Given the description of an element on the screen output the (x, y) to click on. 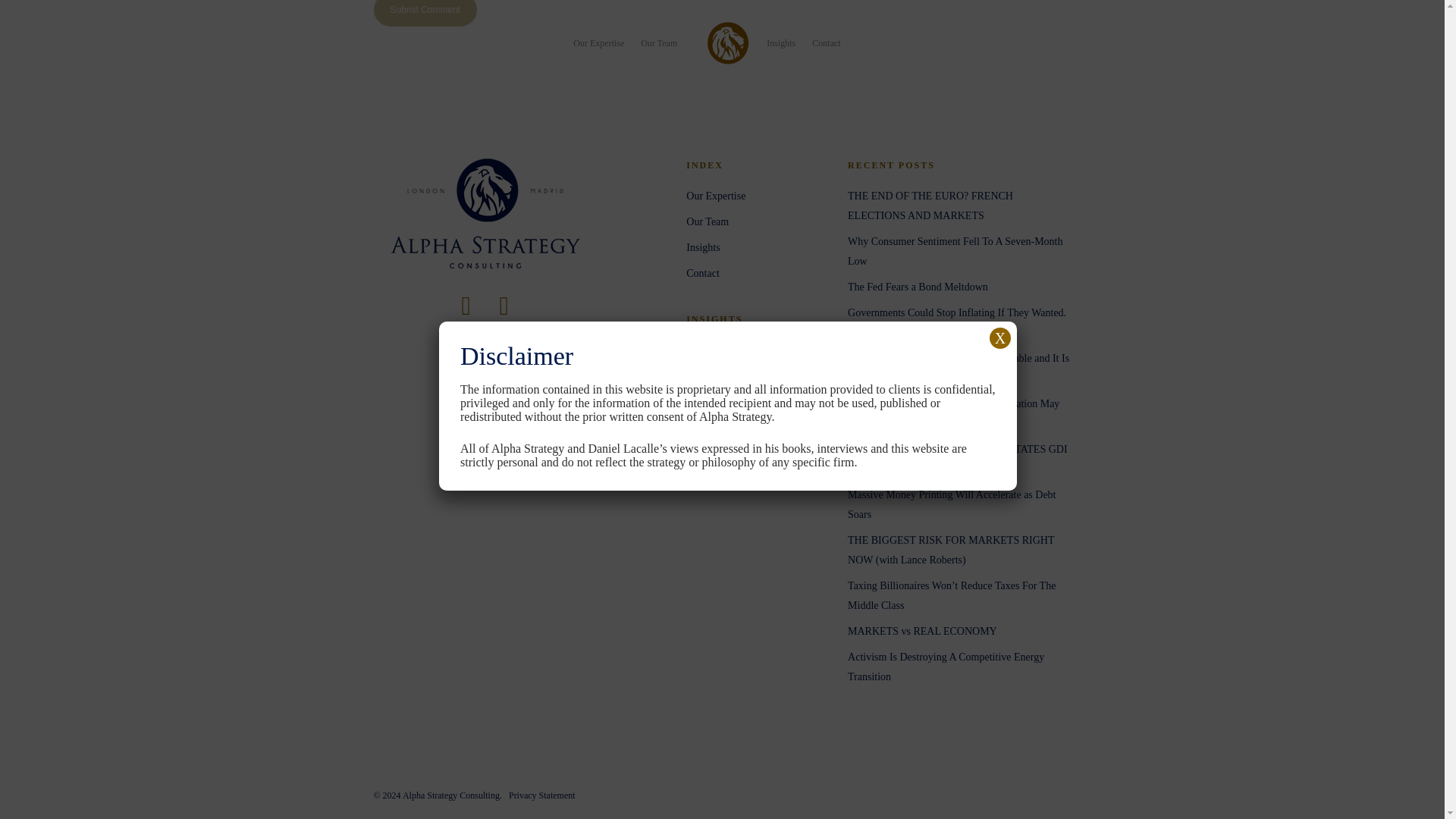
Submit Comment (424, 13)
